Given the description of an element on the screen output the (x, y) to click on. 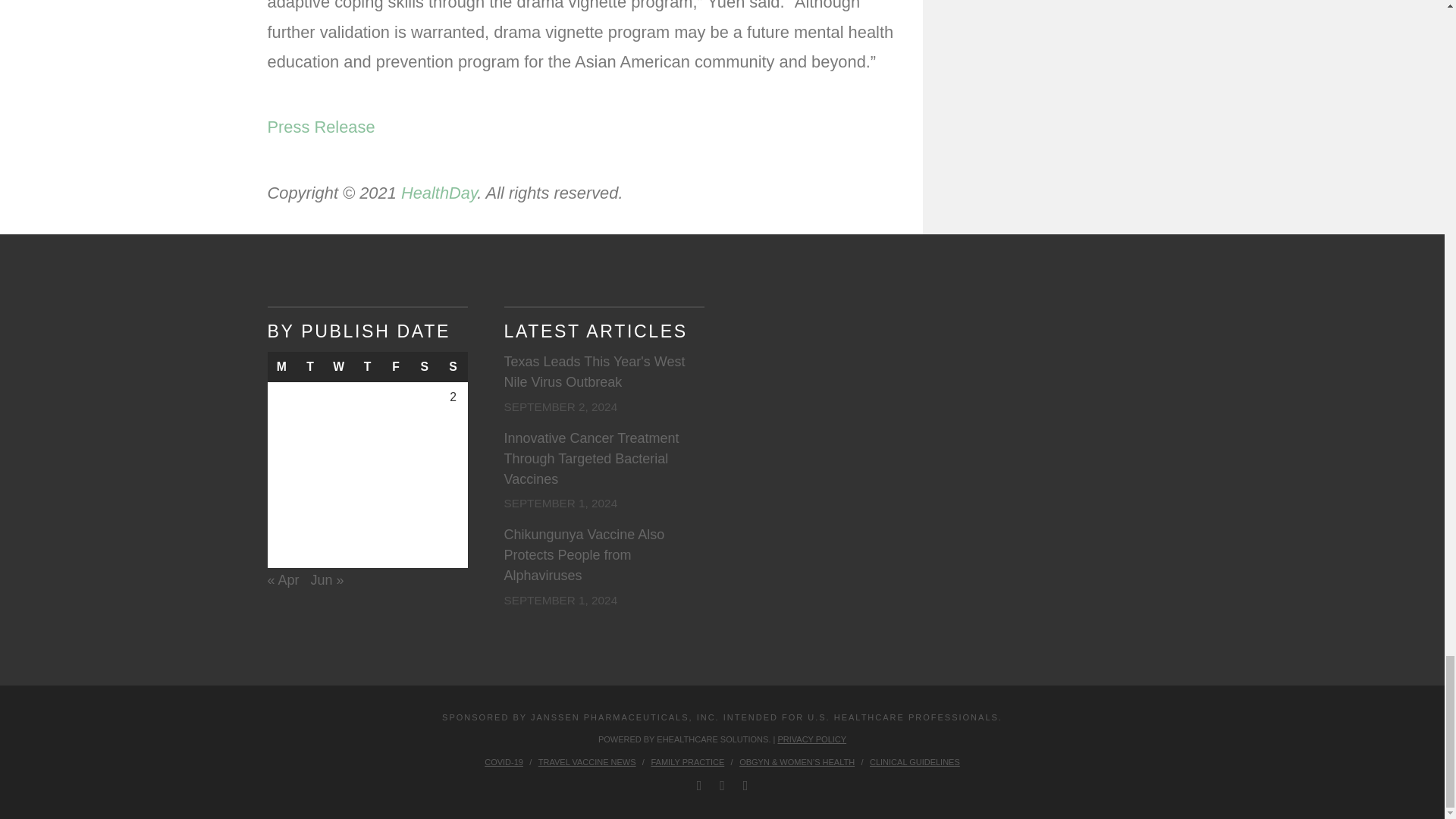
Press Release (320, 126)
Monday (280, 367)
Tuesday (309, 367)
HealthDay (439, 192)
Wednesday (338, 367)
